Given the description of an element on the screen output the (x, y) to click on. 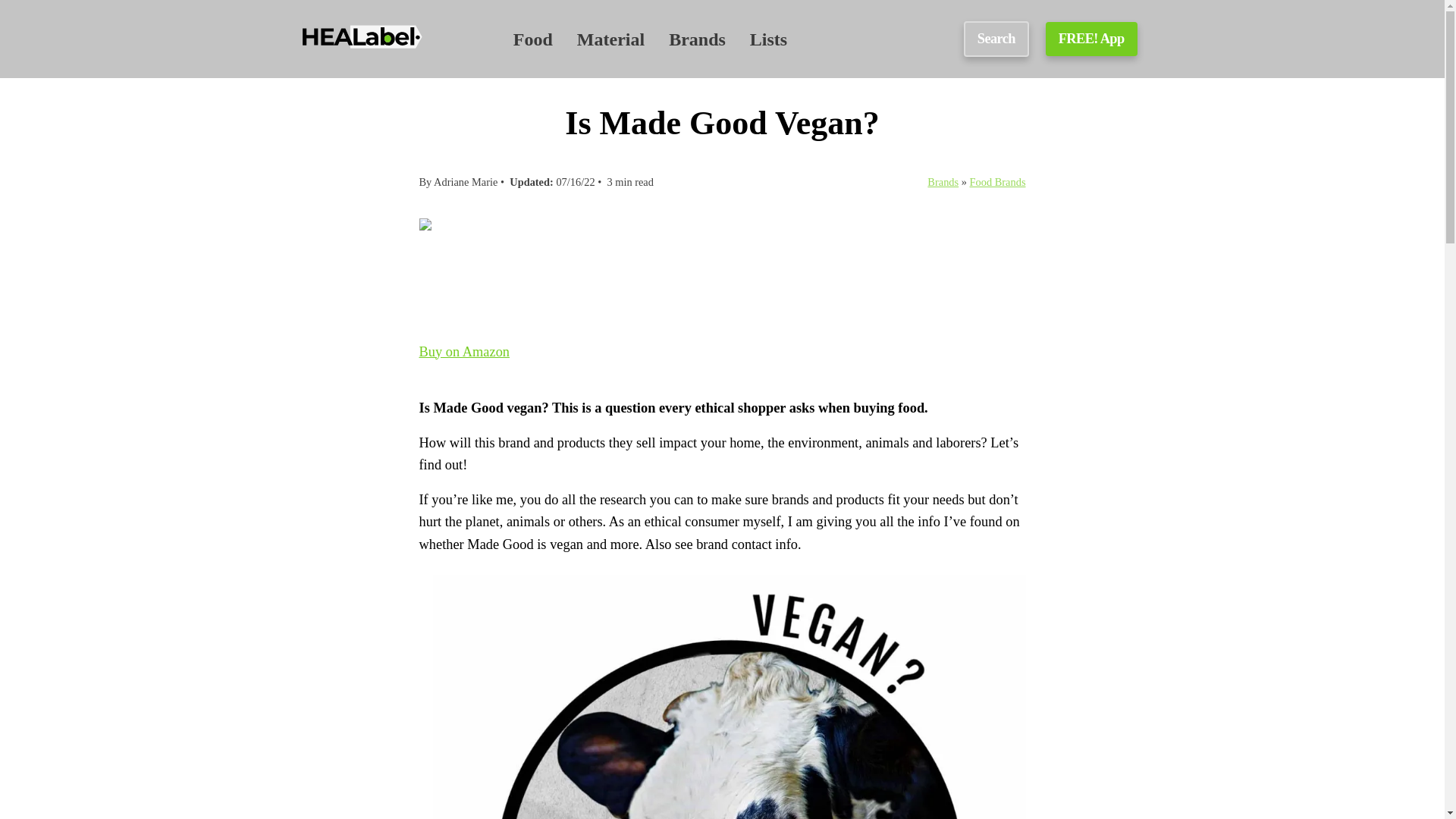
Search (996, 38)
Material (610, 38)
Brands (696, 38)
Food Brands (997, 182)
Food (533, 38)
Lists (768, 38)
Brands (942, 182)
FREE! App (1091, 38)
Buy on Amazon (464, 384)
